Given the description of an element on the screen output the (x, y) to click on. 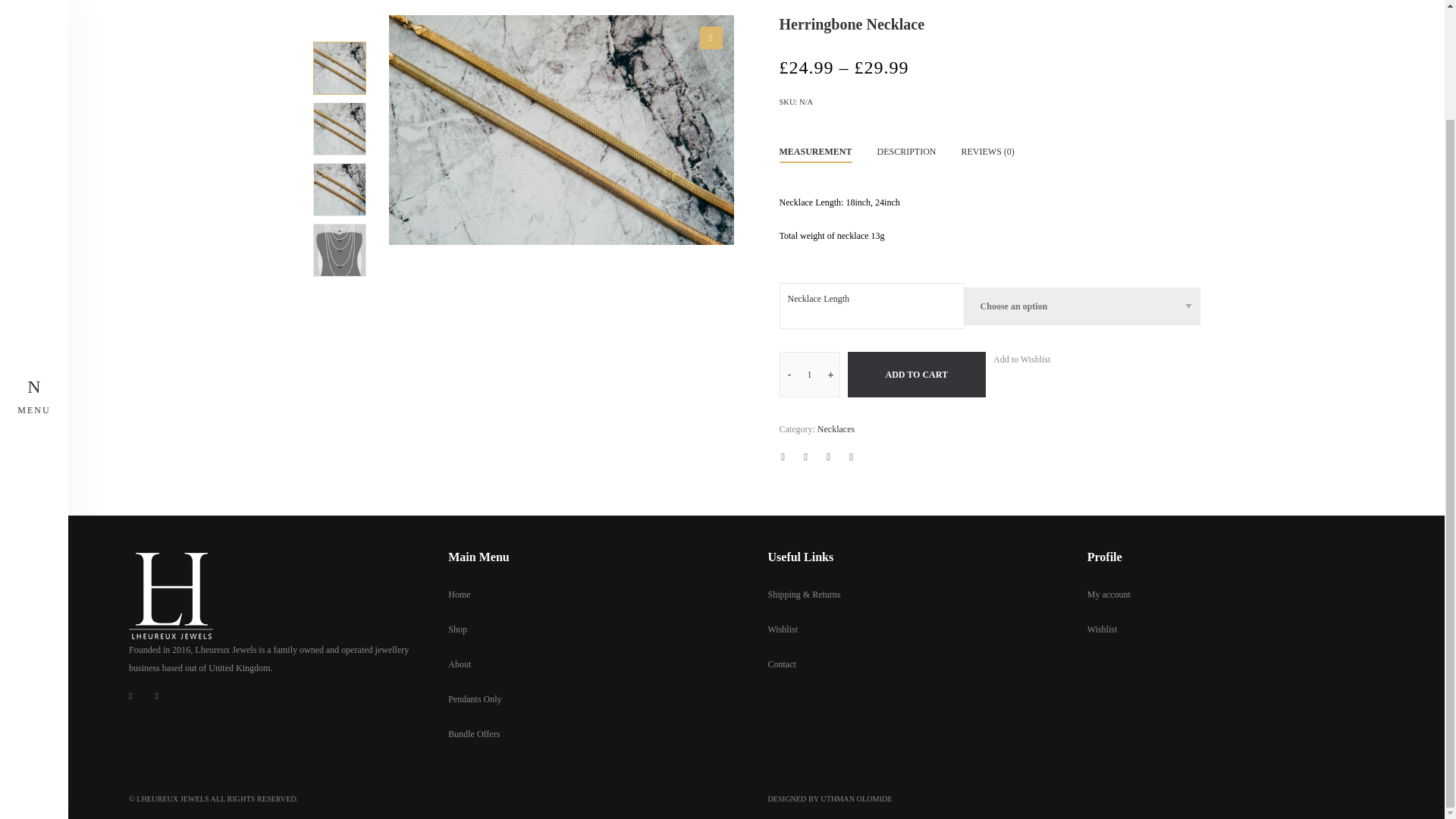
1 (809, 374)
